Given the description of an element on the screen output the (x, y) to click on. 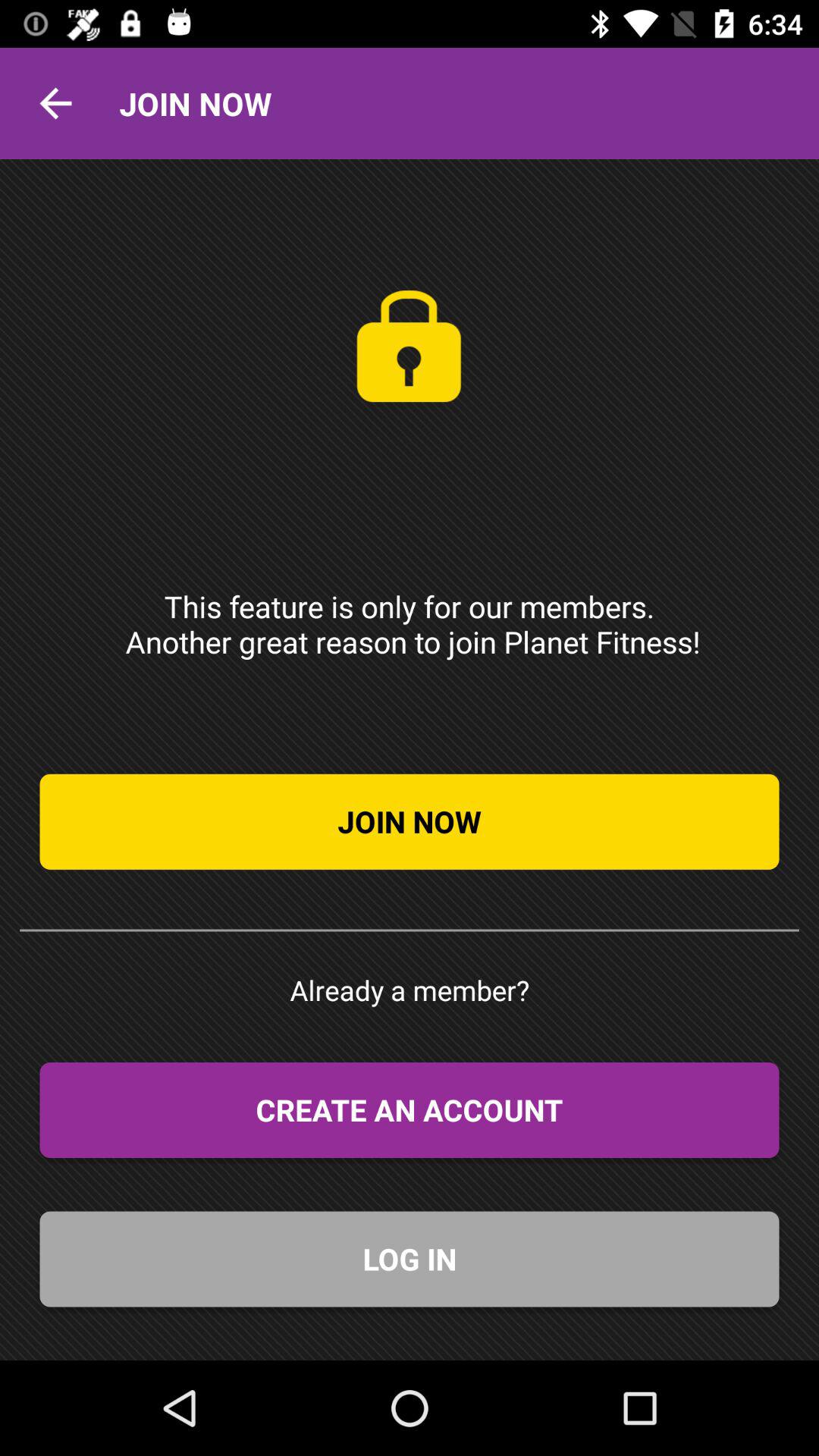
choose the icon below create an account (409, 1258)
